Given the description of an element on the screen output the (x, y) to click on. 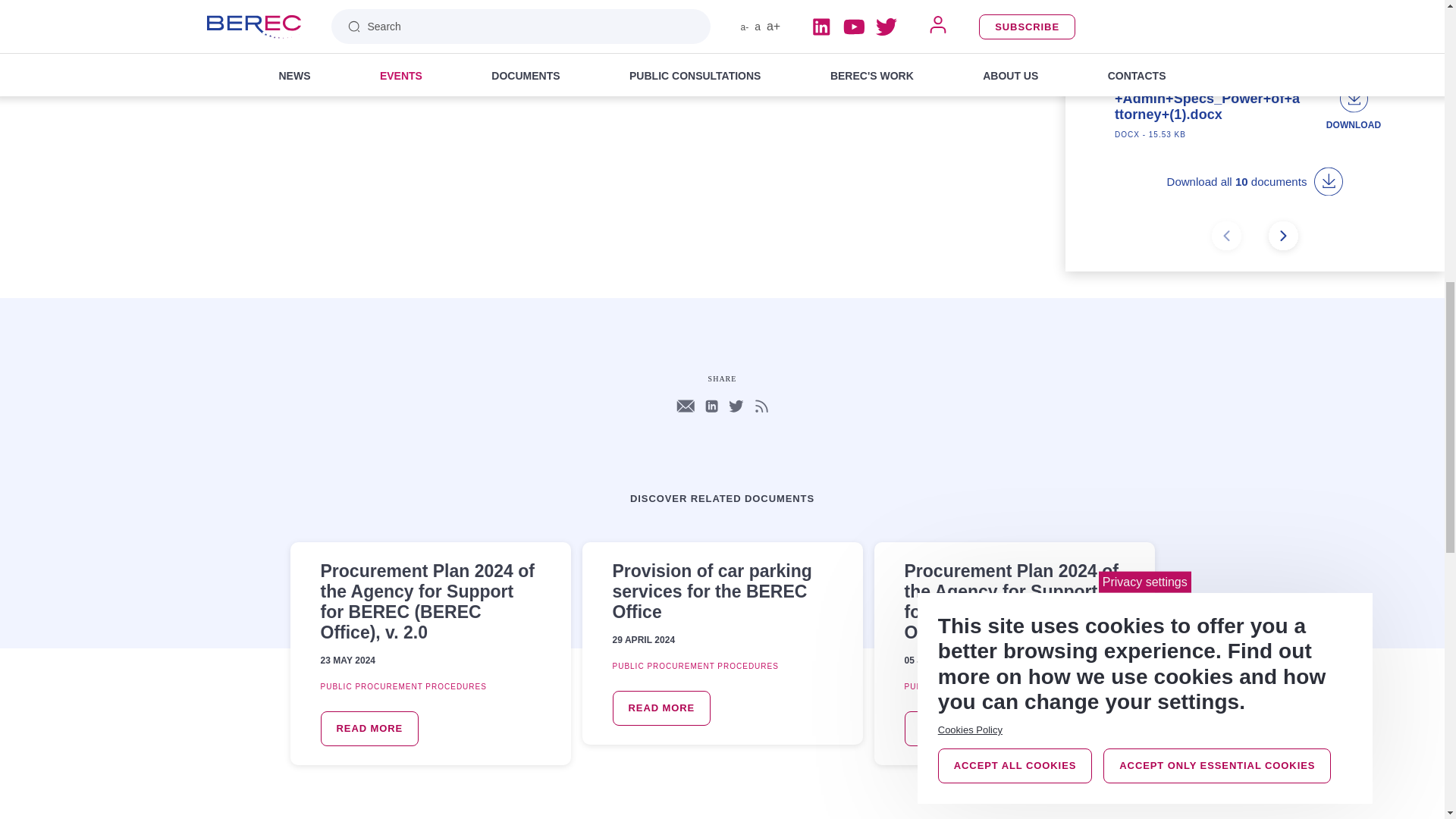
RSS feed (761, 405)
Mail Icon (685, 405)
Go to previous page (1226, 237)
Twitter Icon (736, 405)
Go to next page (1283, 237)
LinkedIn Icon (710, 405)
